Given the description of an element on the screen output the (x, y) to click on. 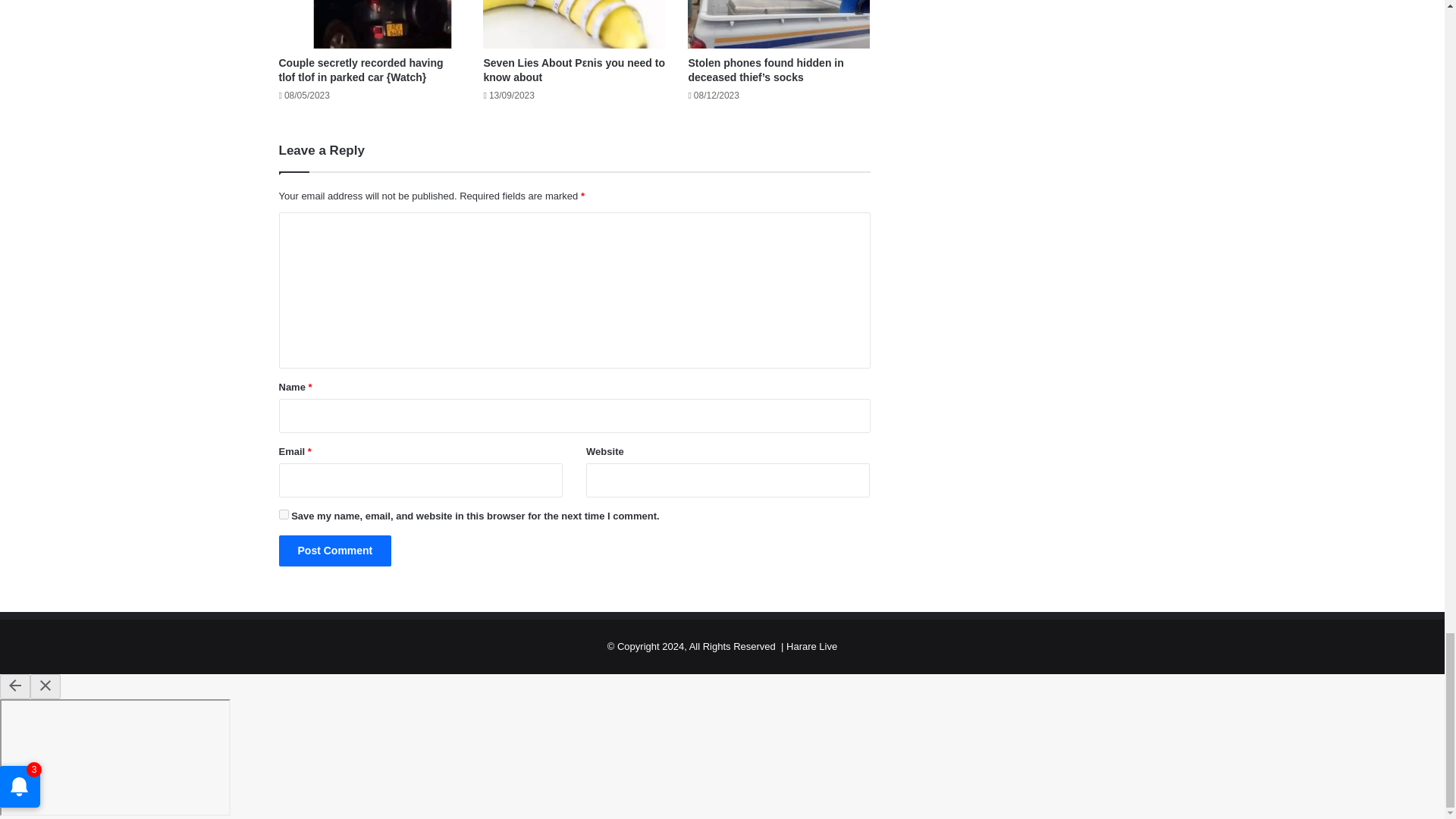
yes (283, 514)
Post Comment (335, 550)
